Given the description of an element on the screen output the (x, y) to click on. 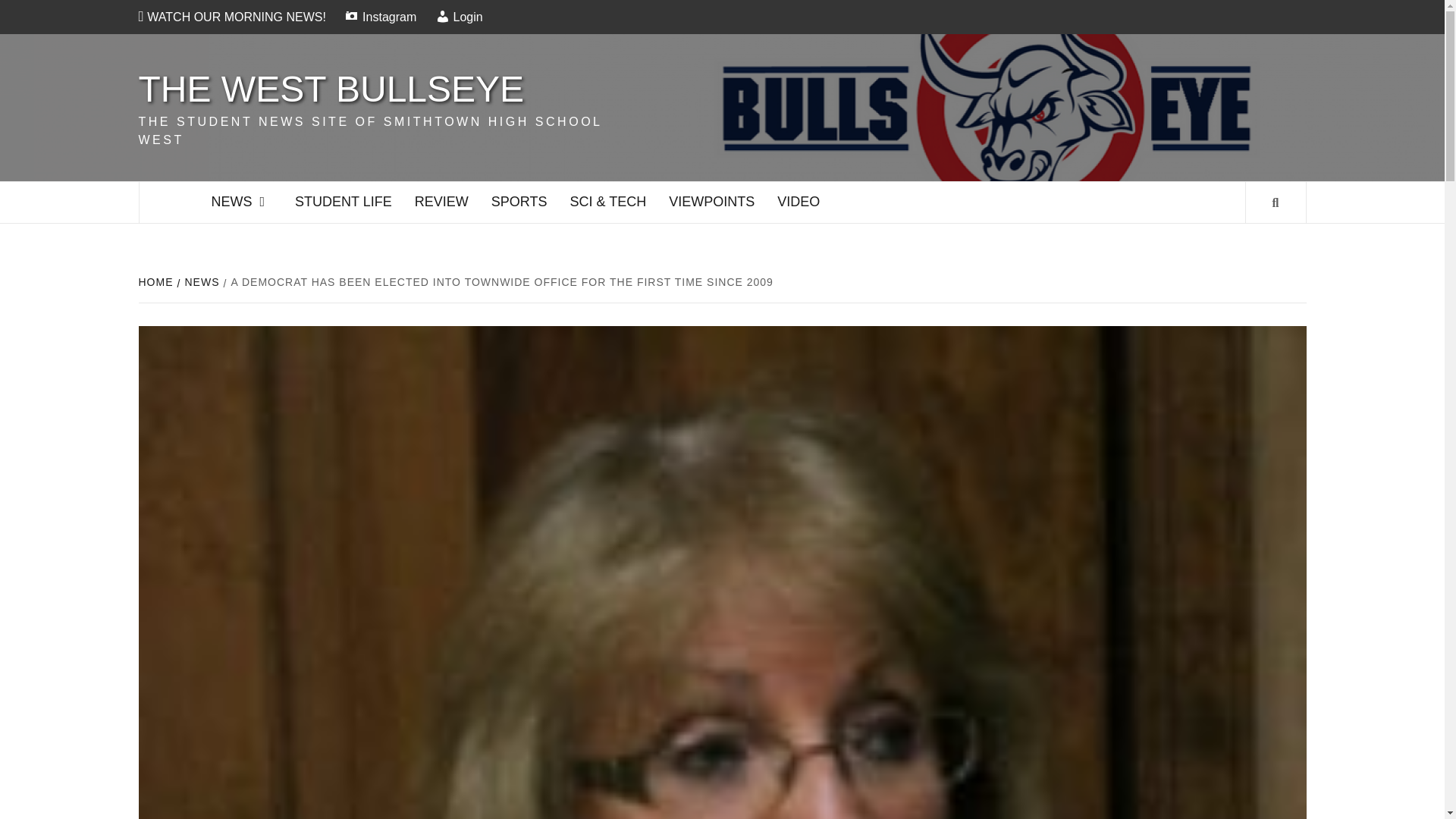
VIEWPOINTS (711, 201)
WATCH OUR MORNING NEWS! (235, 17)
HOME (157, 282)
STUDENT LIFE (343, 201)
NEWS (241, 201)
REVIEW (441, 201)
VIDEO (798, 201)
NEWS (200, 282)
Login (459, 17)
Instagram (379, 17)
THE WEST BULLSEYE (331, 88)
Login (459, 17)
SPORTS (519, 201)
